Given the description of an element on the screen output the (x, y) to click on. 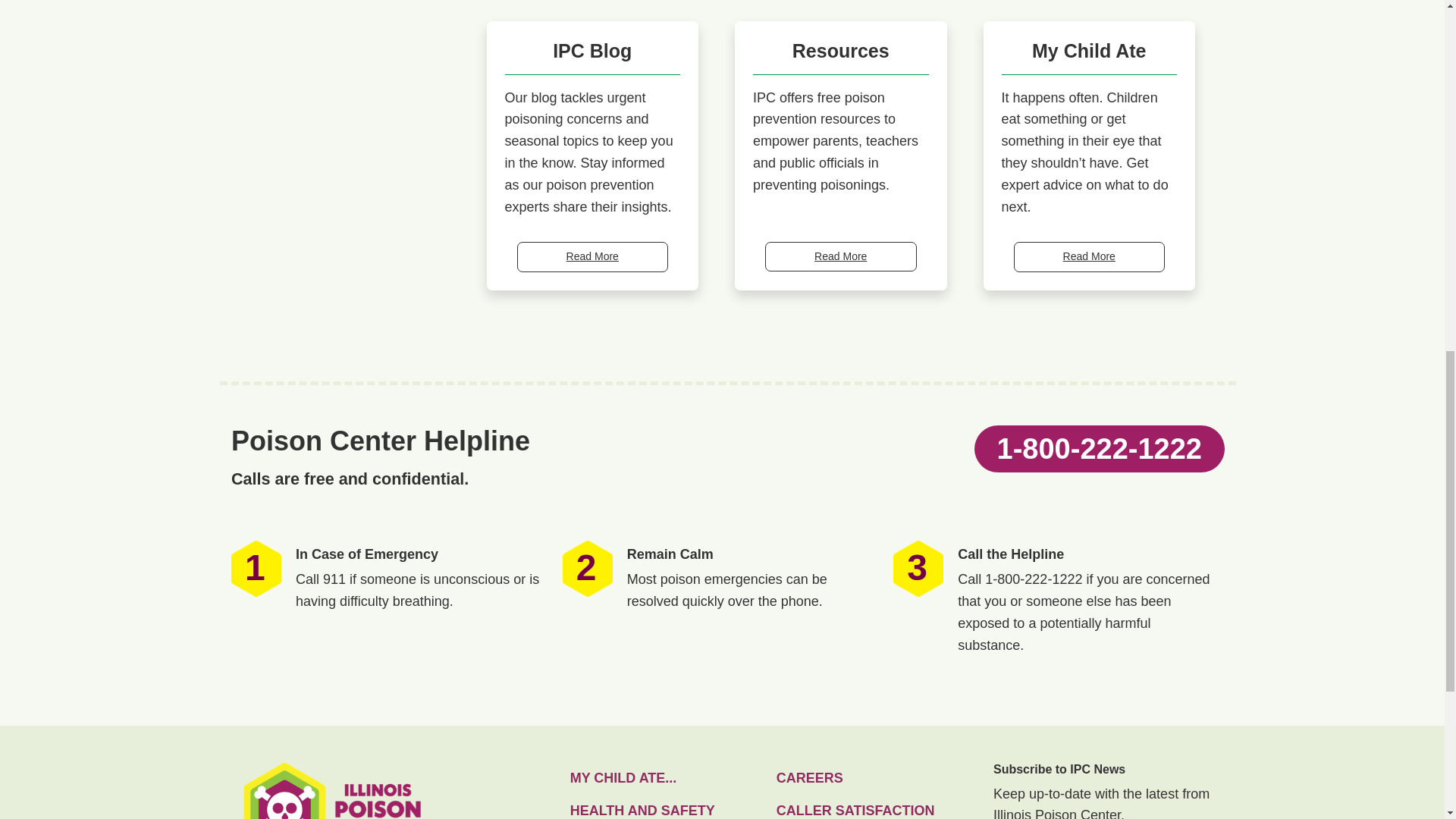
Read More (841, 256)
MY CHILD ATE... (667, 777)
CAREERS (873, 777)
HEALTH AND SAFETY (667, 806)
Read More (592, 256)
CALLER SATISFACTION SURVEY (873, 806)
Read More (1088, 256)
1-800-222-1222 (1099, 448)
